Given the description of an element on the screen output the (x, y) to click on. 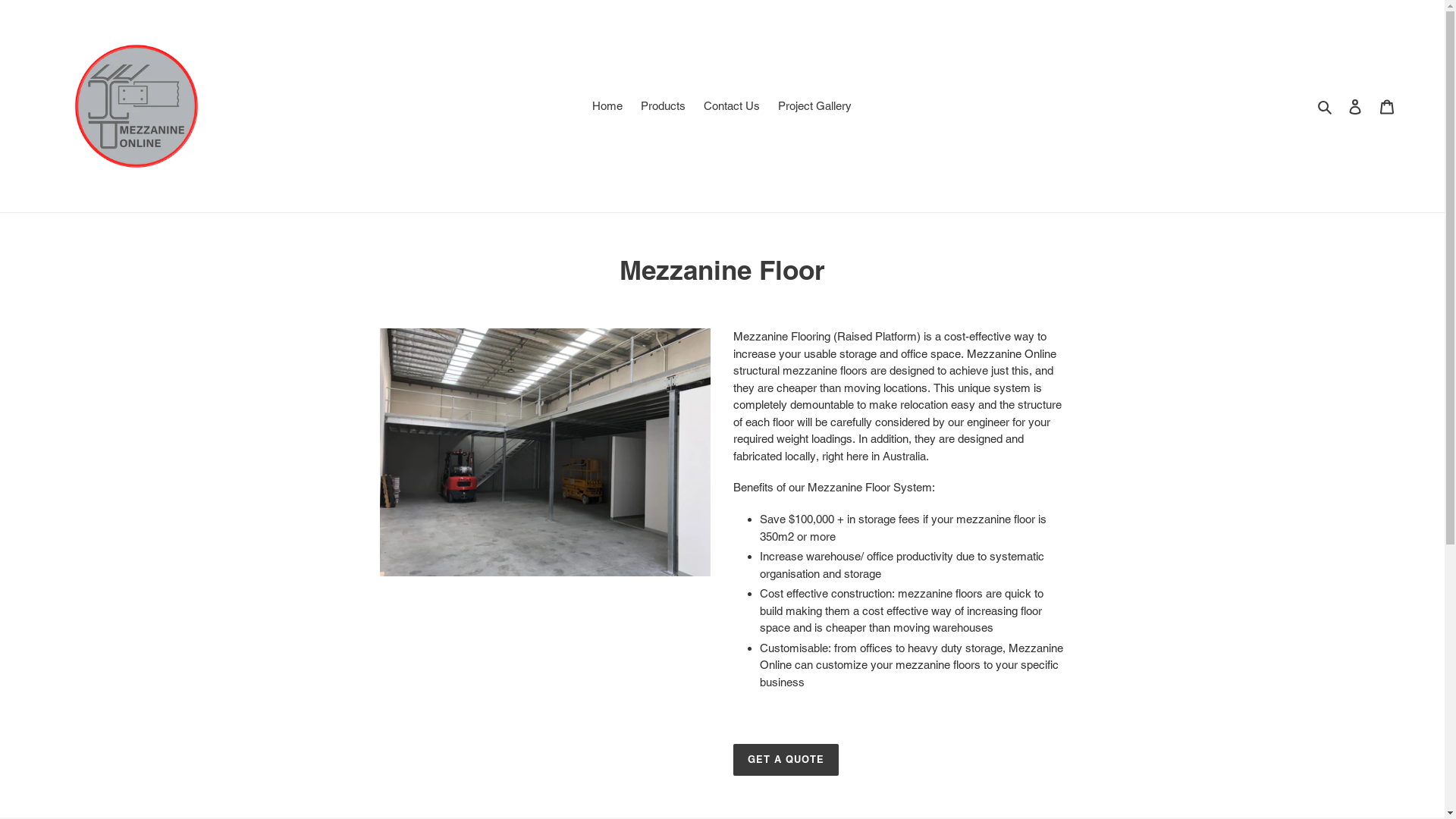
Contact Us Element type: text (731, 106)
GET A QUOTE Element type: text (785, 759)
Project Gallery Element type: text (814, 106)
Log in Element type: text (1355, 106)
Home Element type: text (607, 106)
Search Element type: text (1325, 106)
Products Element type: text (663, 106)
Cart Element type: text (1386, 106)
